Given the description of an element on the screen output the (x, y) to click on. 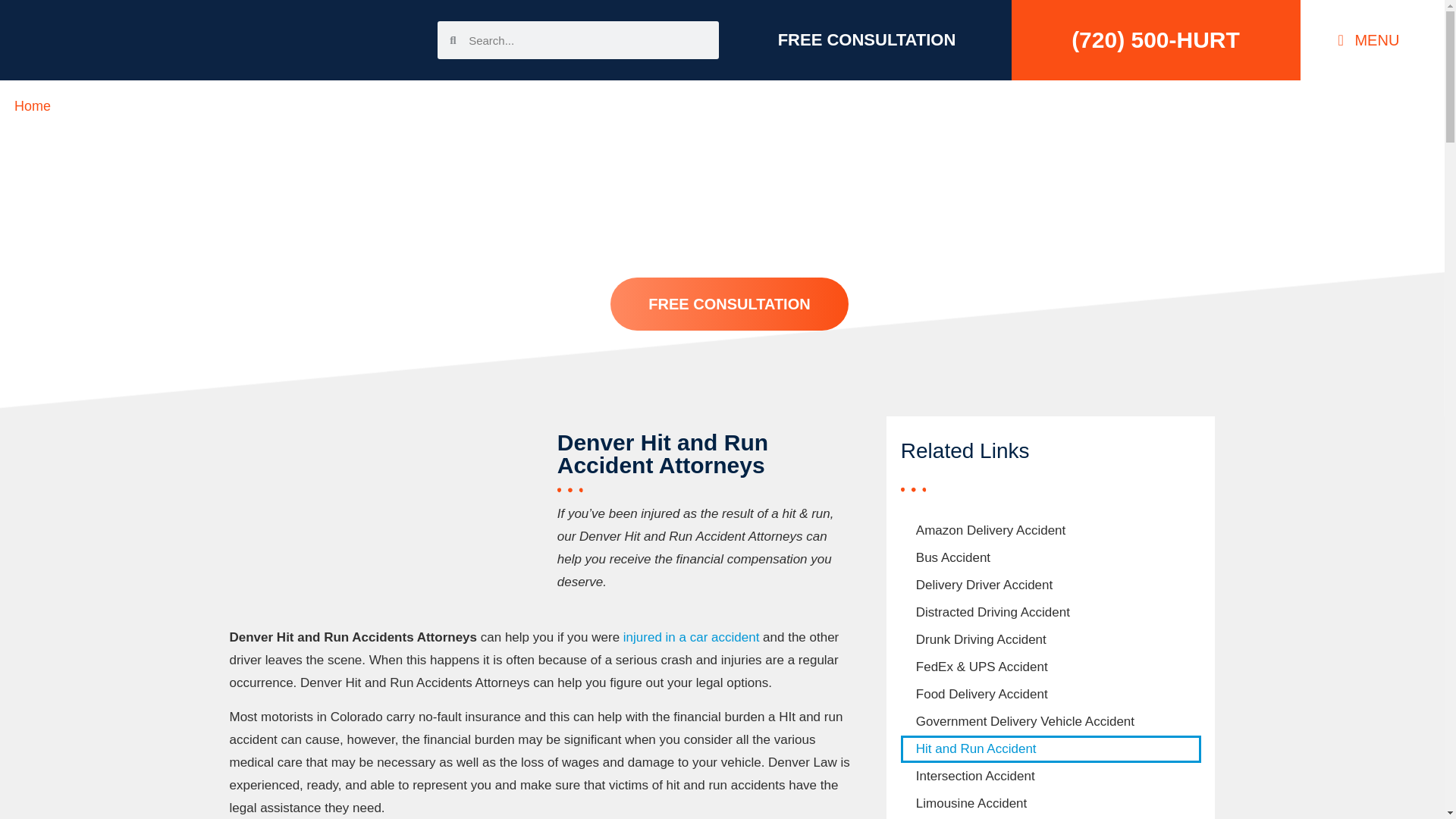
FREE CONSULTATION (866, 39)
FREE CONSULTATION (728, 303)
injured in a car accident (691, 636)
Home (32, 105)
